Given the description of an element on the screen output the (x, y) to click on. 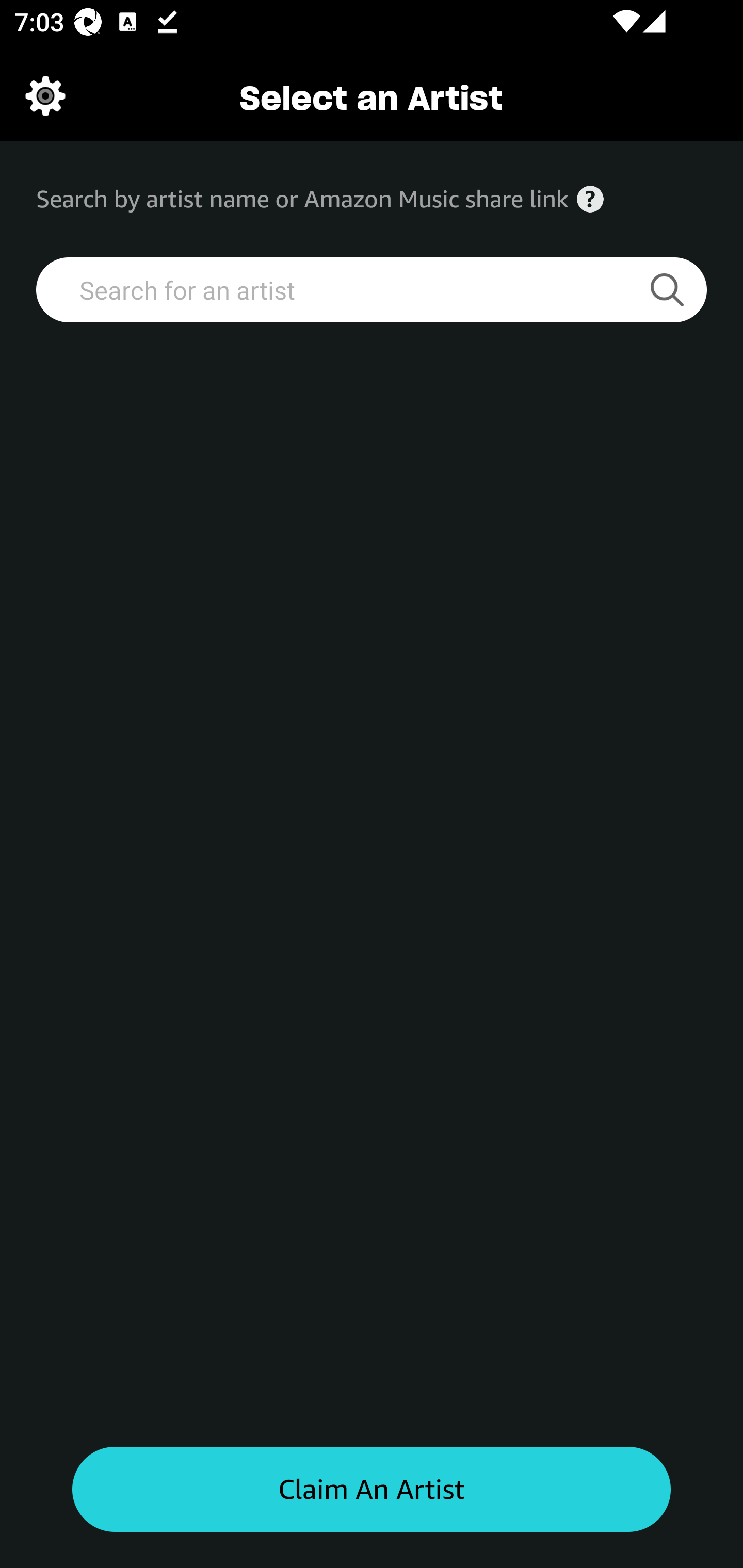
Help  icon (589, 199)
Claim an artist button Claim An Artist (371, 1489)
